Given the description of an element on the screen output the (x, y) to click on. 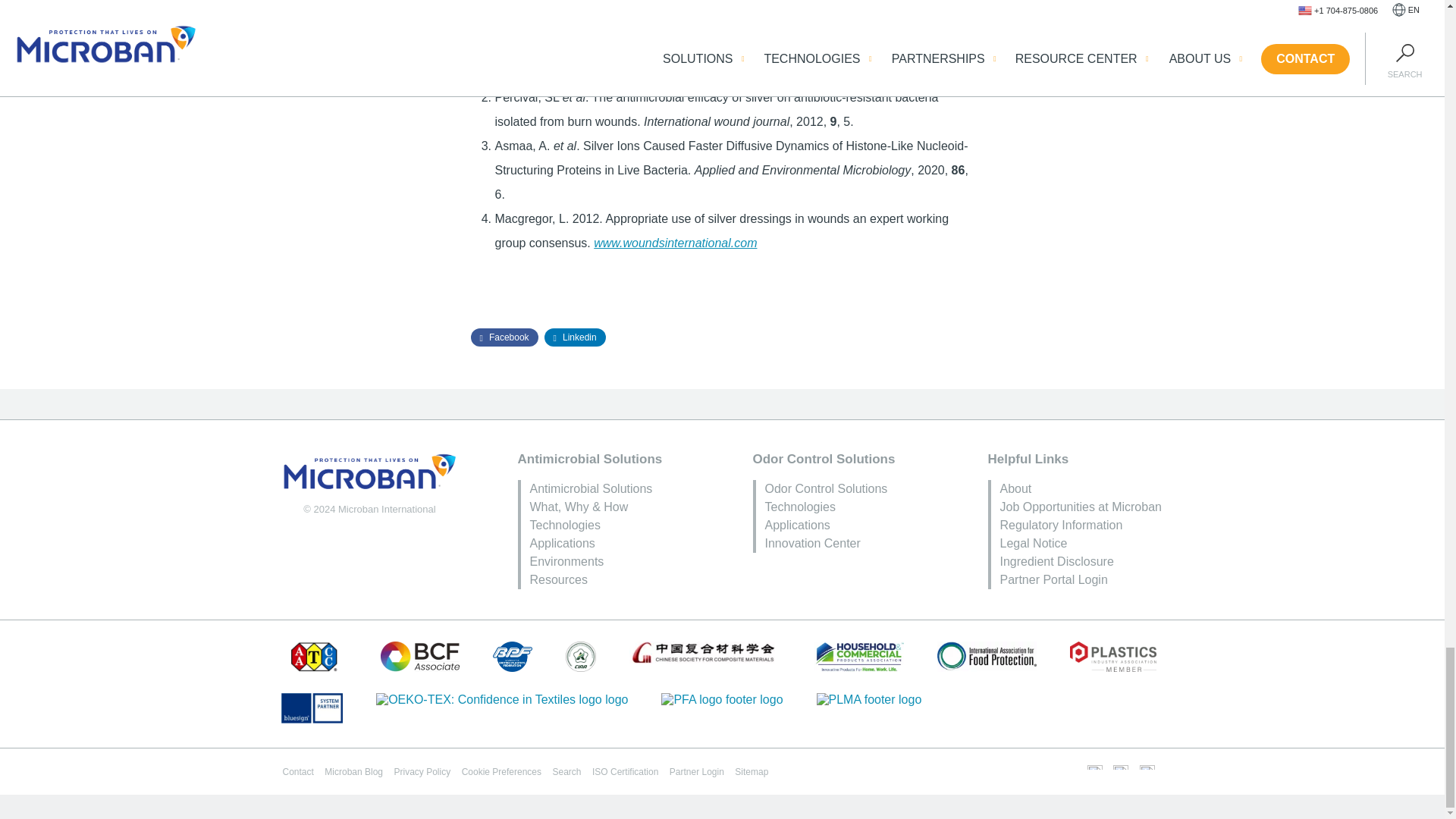
IAFP logo footer logo (986, 656)
Microban (369, 471)
BPF: Member of the British Plastics Federation logo (512, 656)
PFA logo footer logo (722, 699)
bluesign System Partner badge logo (311, 707)
aatcc logo - red yellow blue and white logo (314, 656)
CIA Alogo footer logo (580, 656)
Householdcommercial footer logo (858, 656)
Plastics Industry Association Member logo (1113, 656)
PLMA footer logo (868, 699)
